Given the description of an element on the screen output the (x, y) to click on. 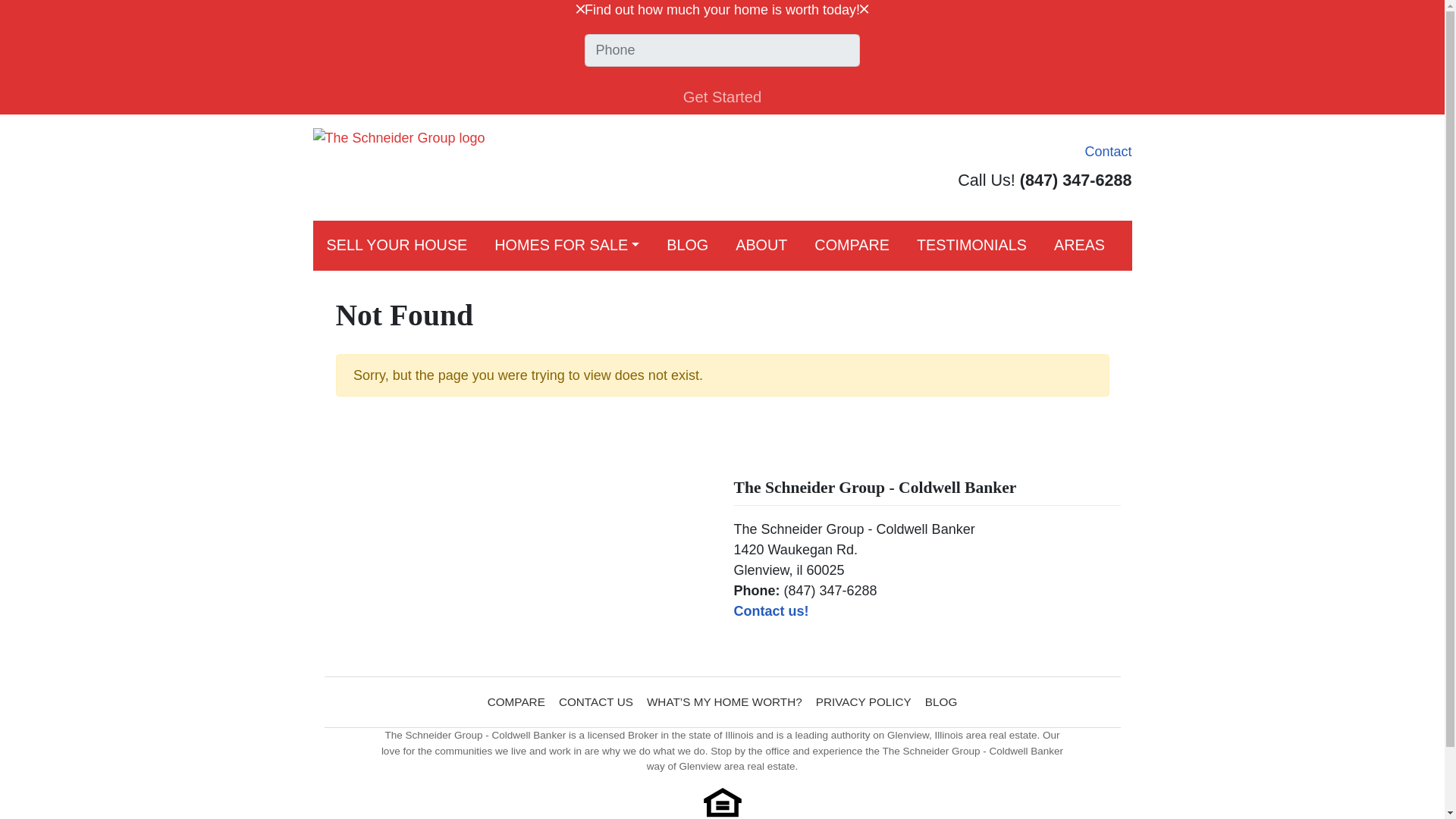
Compare (851, 245)
Blog (687, 245)
COMPARE (851, 245)
ABOUT (761, 245)
BLOG (687, 245)
Homes for Sale (566, 245)
HOMES FOR SALE (566, 245)
COMPARE (515, 702)
Get Started (722, 97)
TESTIMONIALS (971, 245)
SELL YOUR HOUSE (396, 245)
Contact us! (771, 611)
About (761, 245)
Get Started (722, 97)
AREAS (1079, 245)
